Given the description of an element on the screen output the (x, y) to click on. 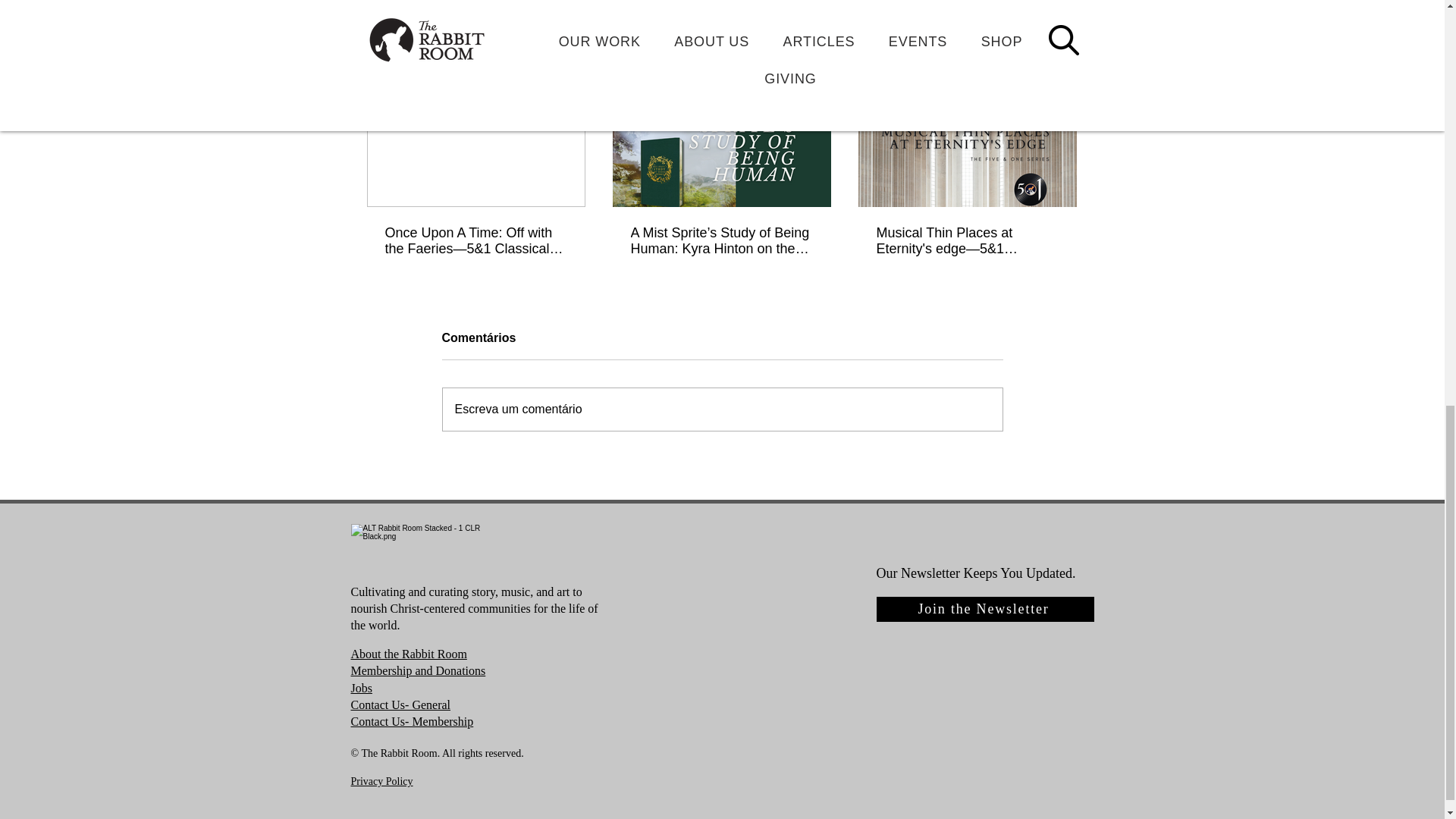
About the Rabbit Room (407, 653)
Join the Newsletter (985, 609)
See All (1061, 56)
